Given the description of an element on the screen output the (x, y) to click on. 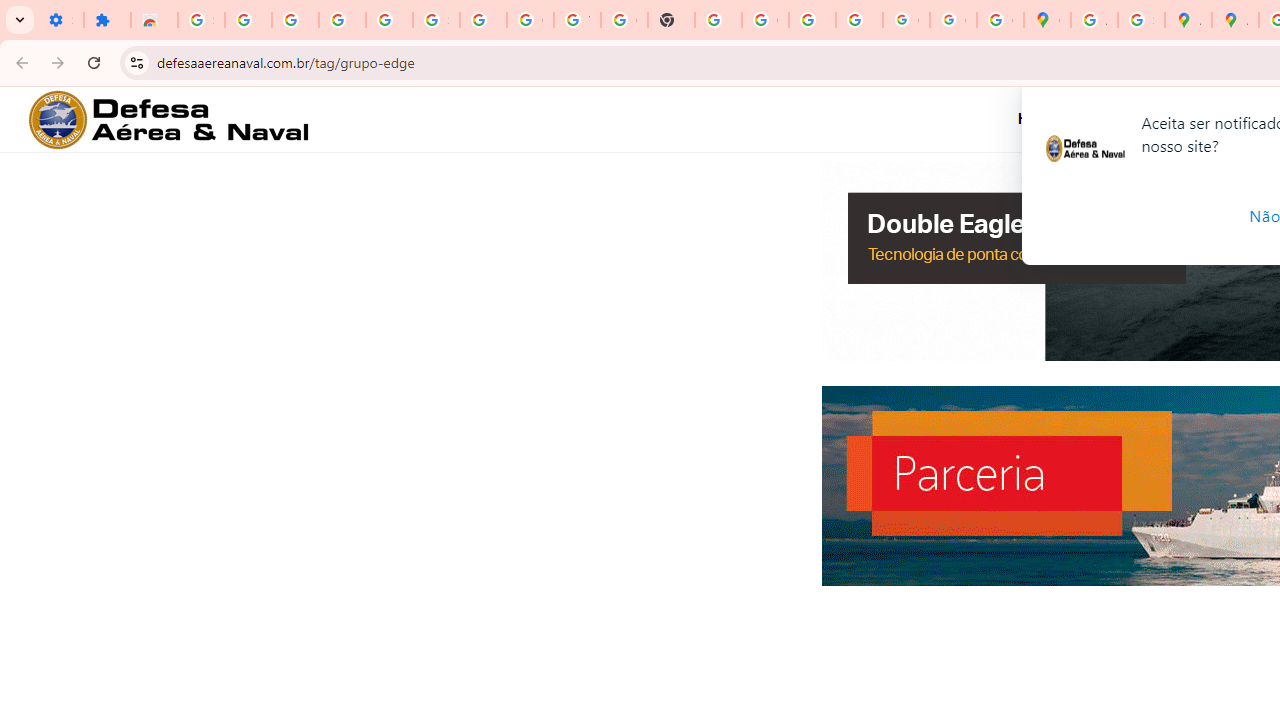
Sign in - Google Accounts (436, 20)
Google Maps (1047, 20)
notification icon (1085, 150)
ARTIGOS (1116, 117)
